Given the description of an element on the screen output the (x, y) to click on. 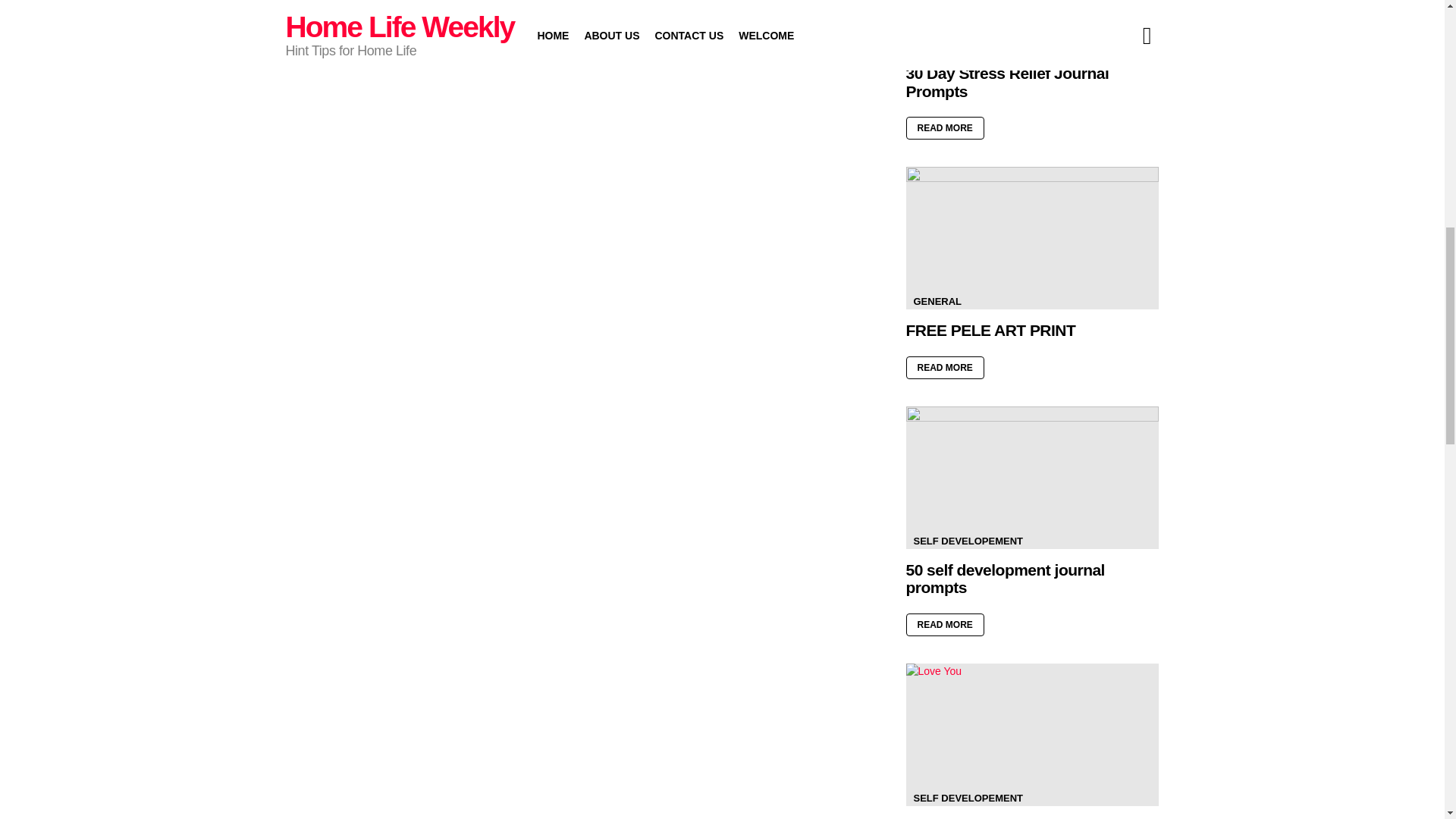
SELF DEVELOPEMENT (967, 540)
SELF DEVELOPEMENT (967, 44)
GENERAL (937, 301)
FREE PELE ART PRINT (990, 330)
50 self development journal prompts (1031, 477)
30 Day Stress Relief Journal Prompts (1006, 81)
30 Day Stress Relief Journal Prompts (1031, 26)
READ MORE (944, 128)
FREE PELE ART PRINT (1031, 238)
50 self development journal prompts (1004, 579)
